Given the description of an element on the screen output the (x, y) to click on. 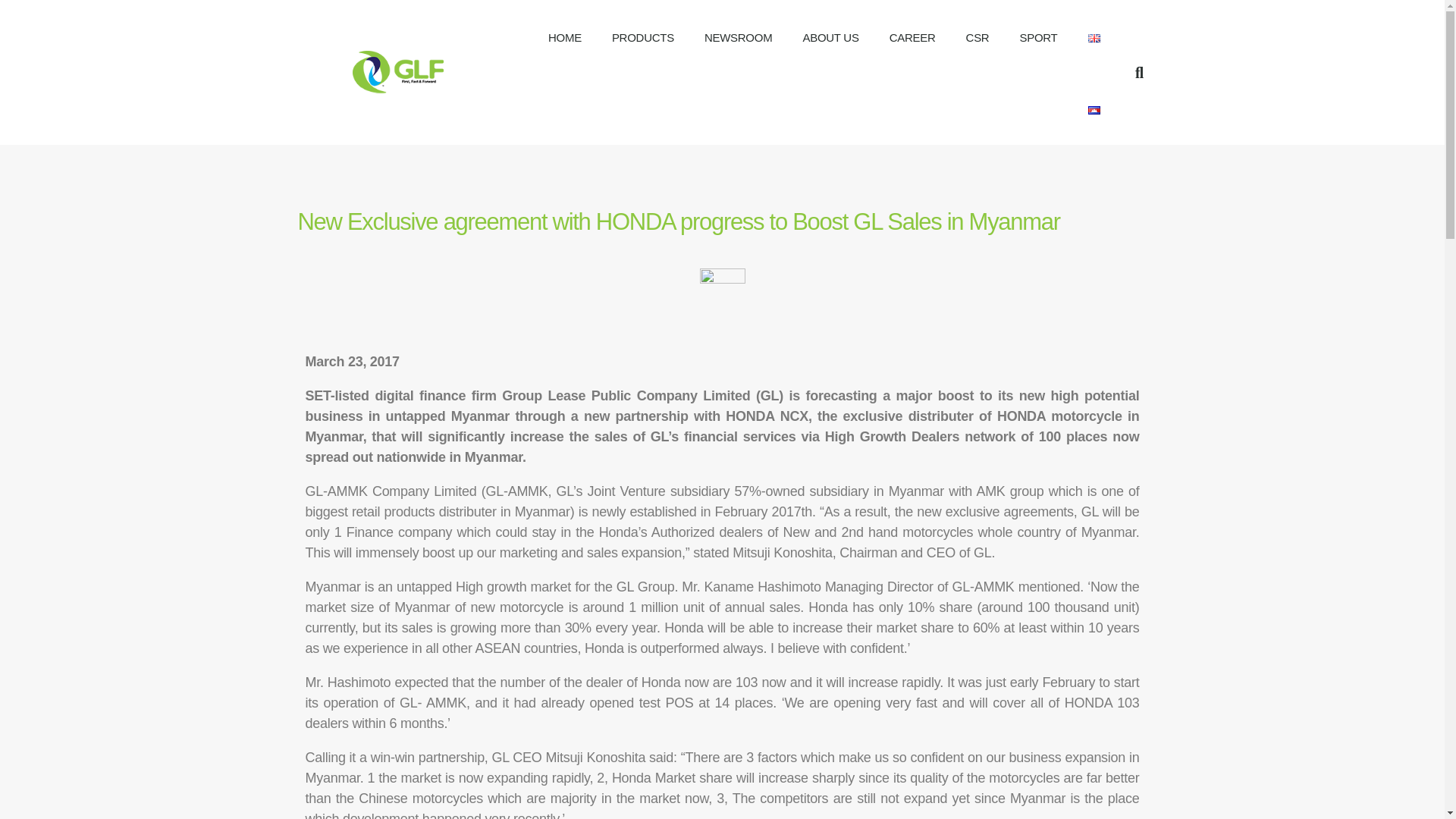
ABOUT US (830, 38)
PRODUCTS (642, 38)
NEWSROOM (737, 38)
SPORT (1037, 38)
CAREER (912, 38)
